Given the description of an element on the screen output the (x, y) to click on. 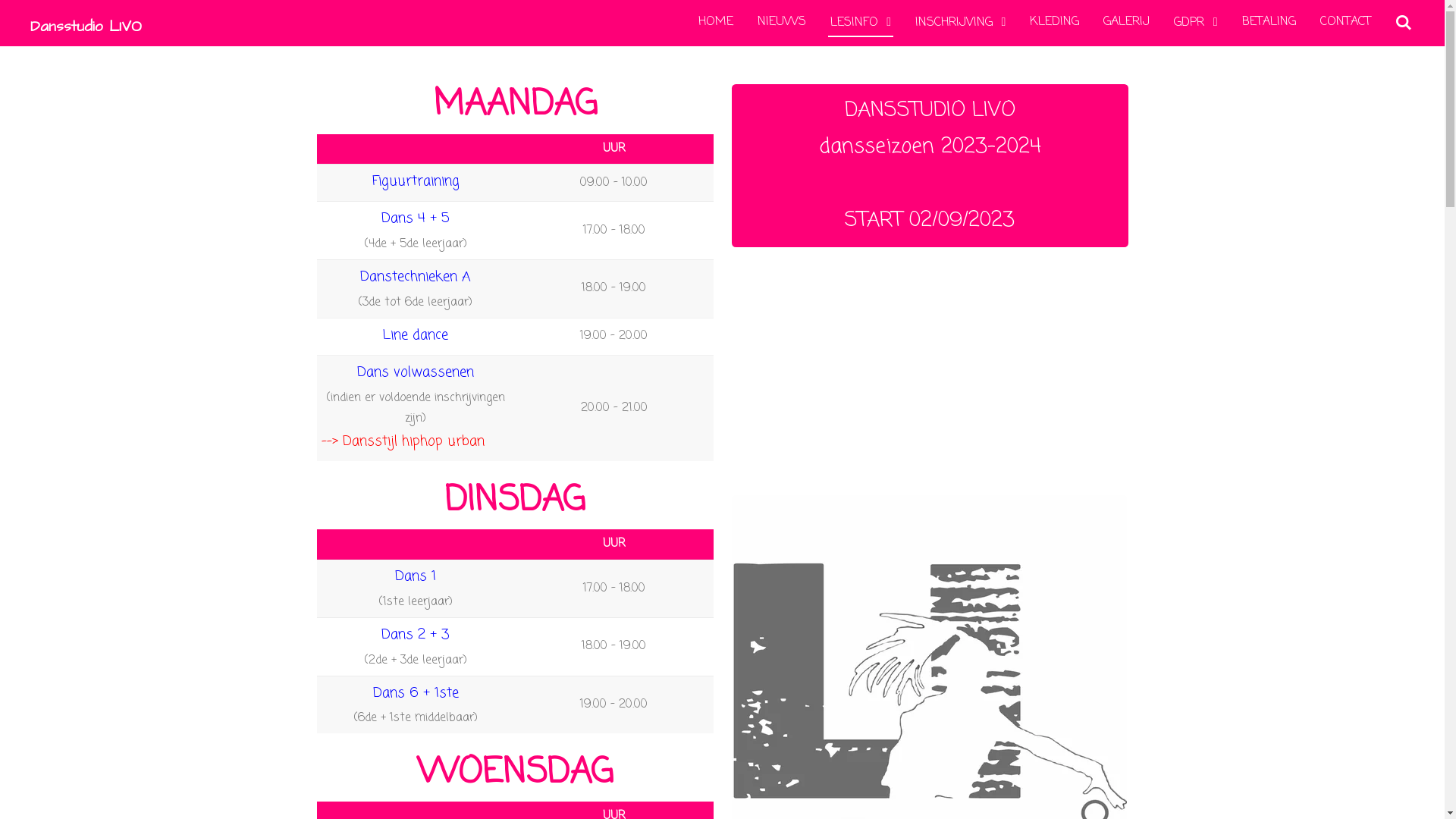
BETALING Element type: text (1268, 21)
Dansstudio LIVO Element type: text (85, 22)
Zoeken Element type: hover (1403, 22)
NIEUWS Element type: text (781, 21)
GALERIJ Element type: text (1126, 21)
GDPR Element type: text (1195, 22)
HOME Element type: text (715, 21)
INSCHRIJVING Element type: text (960, 22)
LESINFO Element type: text (860, 22)
KLEDING Element type: text (1054, 21)
CONTACT Element type: text (1345, 21)
DANSSTUDIO LIVO
dansseizoen 2023-2024

START 02/09/2023 Element type: text (929, 165)
